Given the description of an element on the screen output the (x, y) to click on. 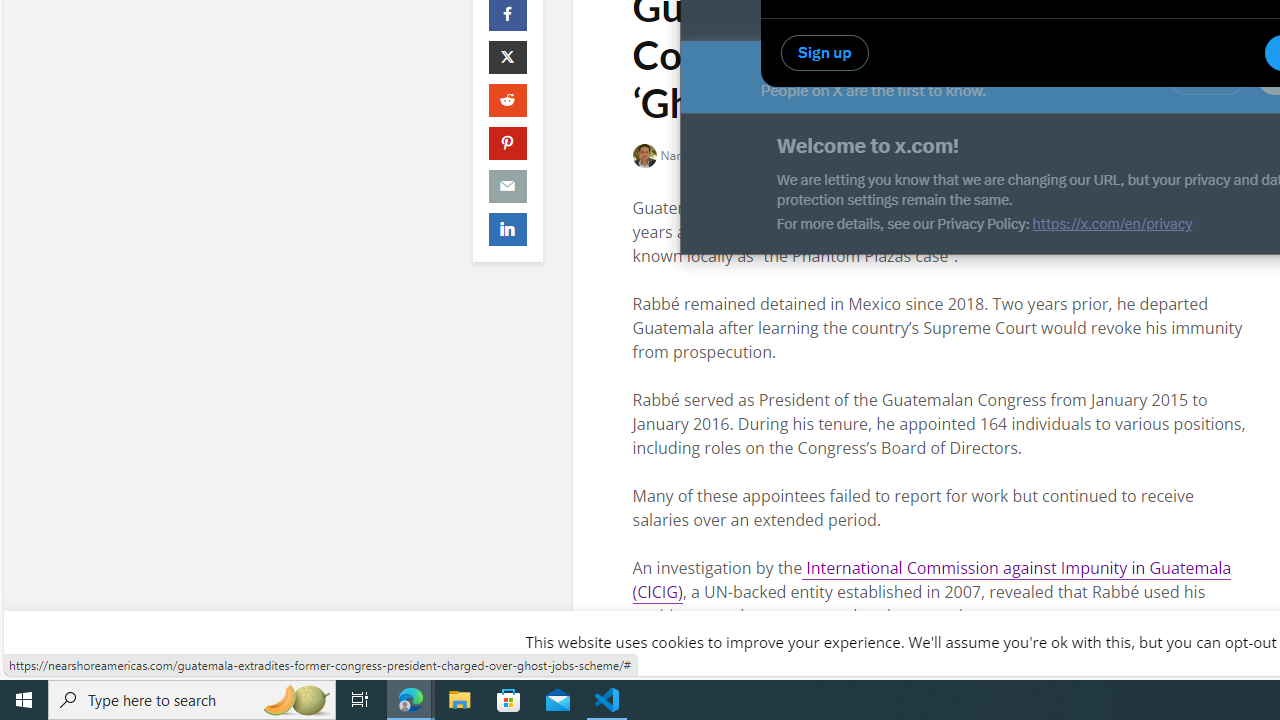
Microsoft Edge - 2 running windows (411, 699)
https://x.com/en/privacy (1111, 223)
Log in (1206, 77)
